Given the description of an element on the screen output the (x, y) to click on. 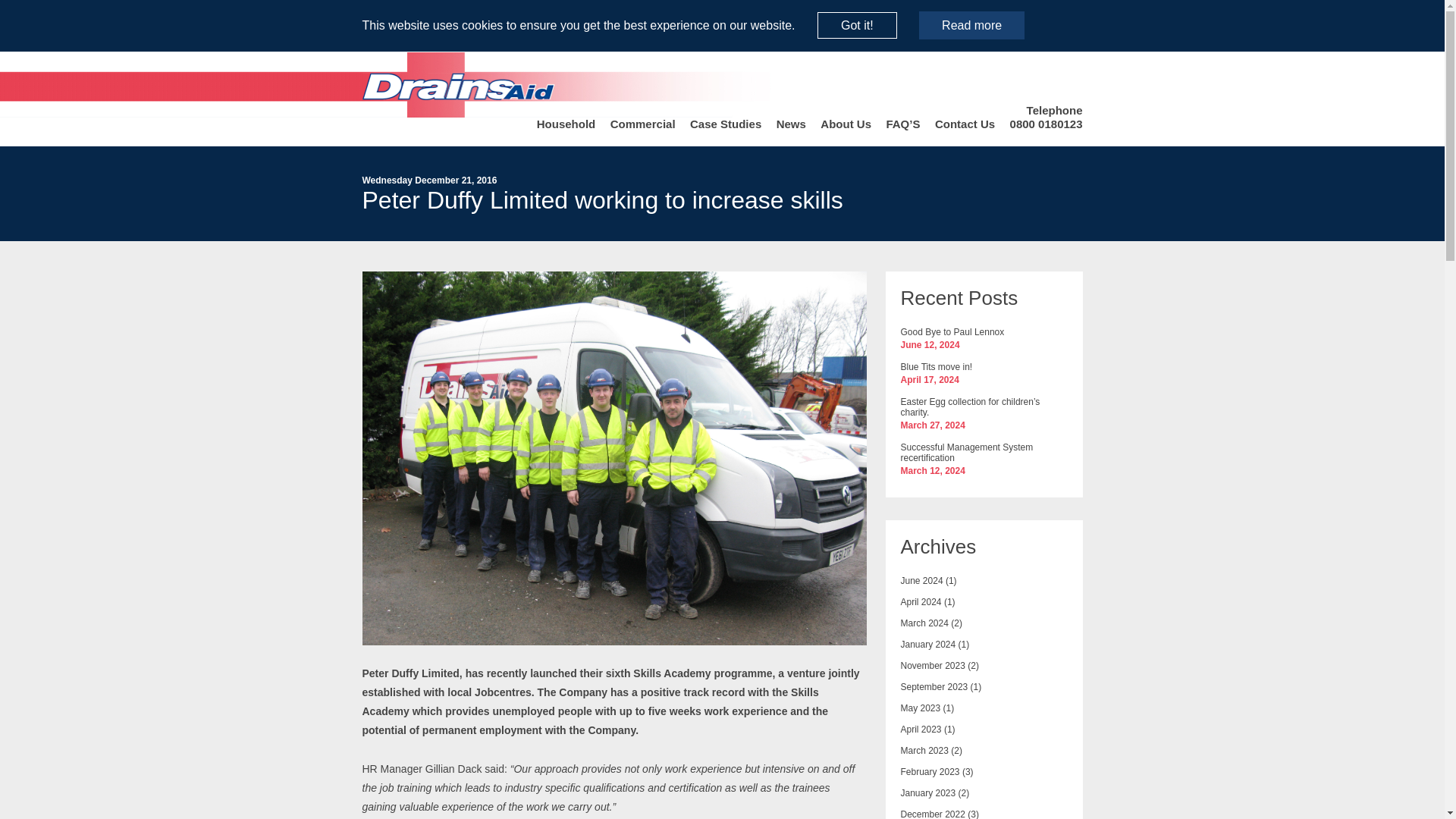
News (791, 123)
Commercial (642, 123)
Got it! (856, 25)
Peter Duffy Limited working to increase skills (614, 637)
Case Studies (725, 123)
About Us (845, 123)
Household (566, 123)
Read more (971, 25)
